Given the description of an element on the screen output the (x, y) to click on. 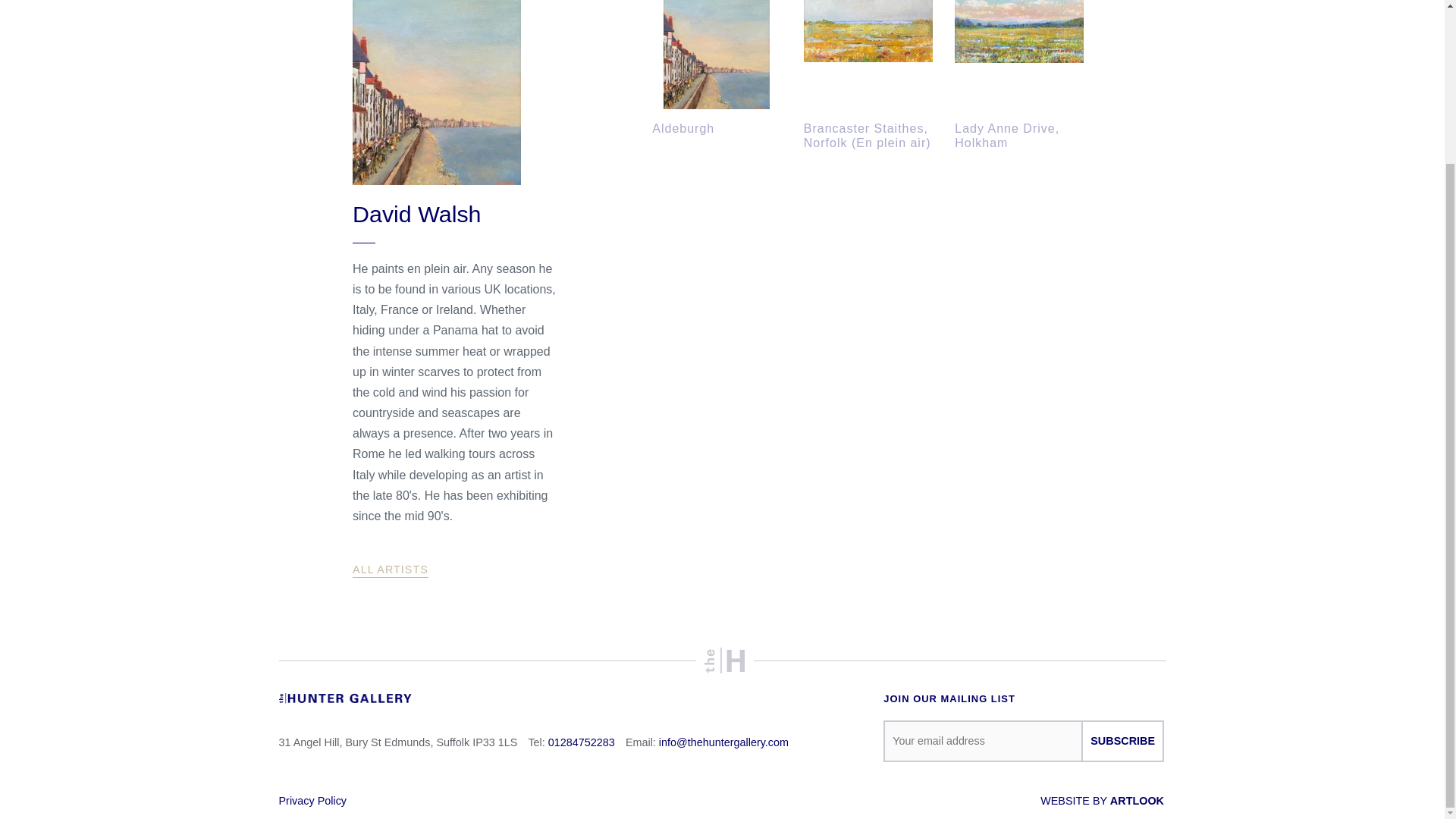
Aldeburgh (716, 67)
WEBSITE BY ARTLOOK (1102, 800)
Privacy Policy (313, 800)
01284752283 (581, 742)
ALL ARTISTS (390, 570)
SUBSCRIBE (1122, 741)
